Given the description of an element on the screen output the (x, y) to click on. 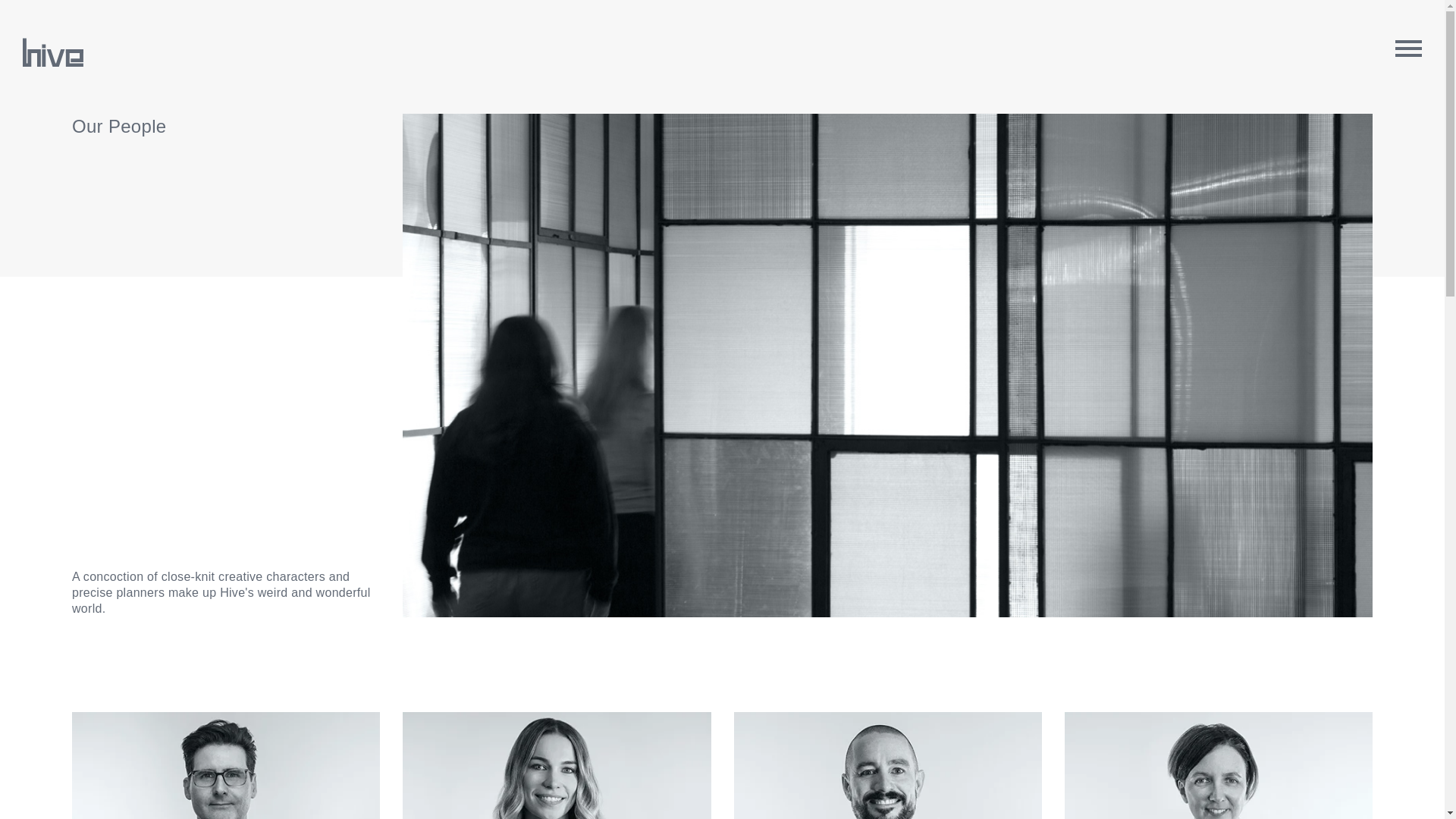
Submit Element type: text (21, 8)
